Given the description of an element on the screen output the (x, y) to click on. 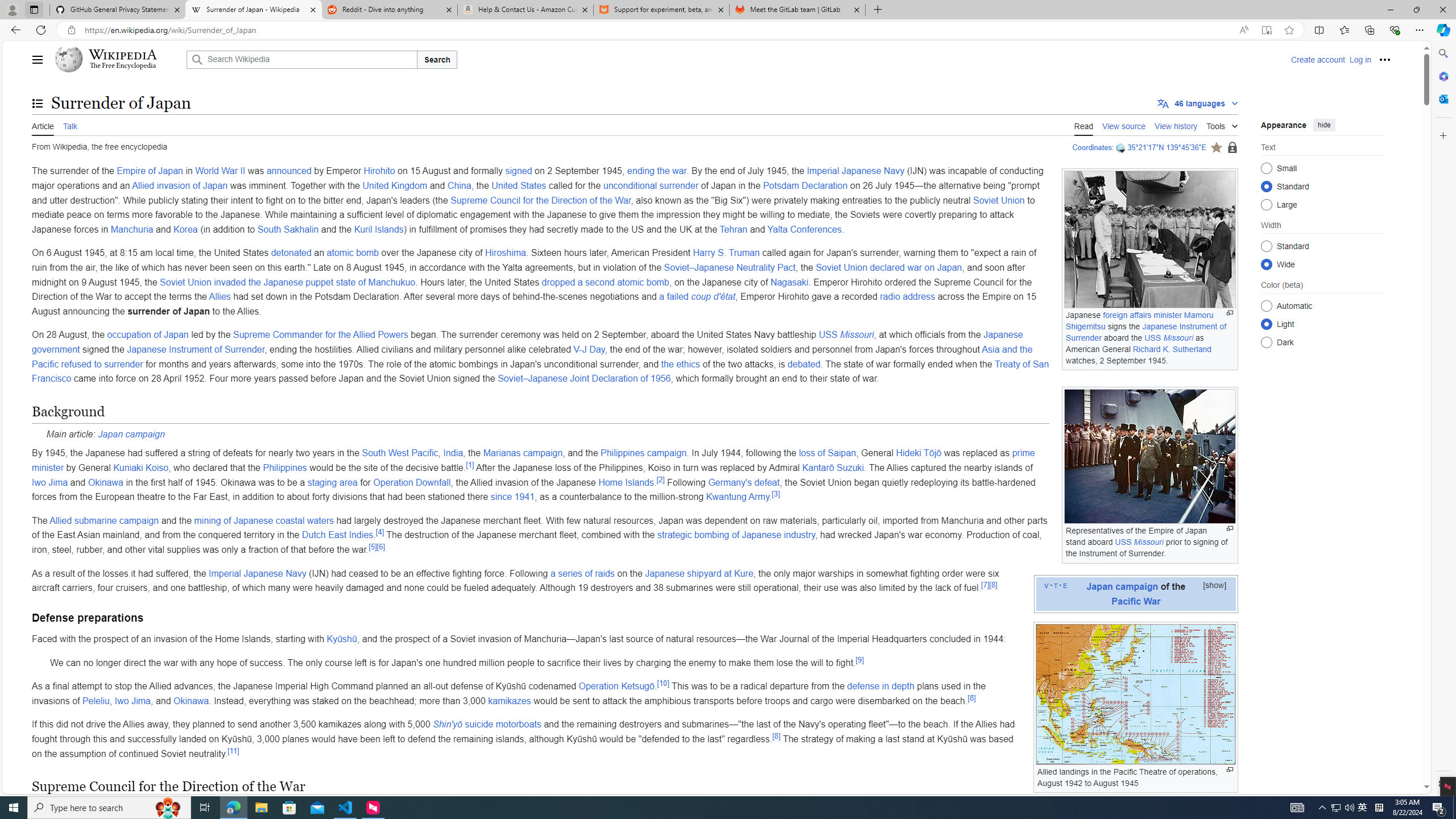
[show] (1214, 585)
Japanese Instrument of Surrender (195, 348)
prime minister (533, 459)
Tools (1222, 124)
Read (1083, 124)
Kuril Islands (378, 229)
South Sakhalin (287, 229)
China (458, 185)
announced (288, 171)
[10] (662, 682)
